Given the description of an element on the screen output the (x, y) to click on. 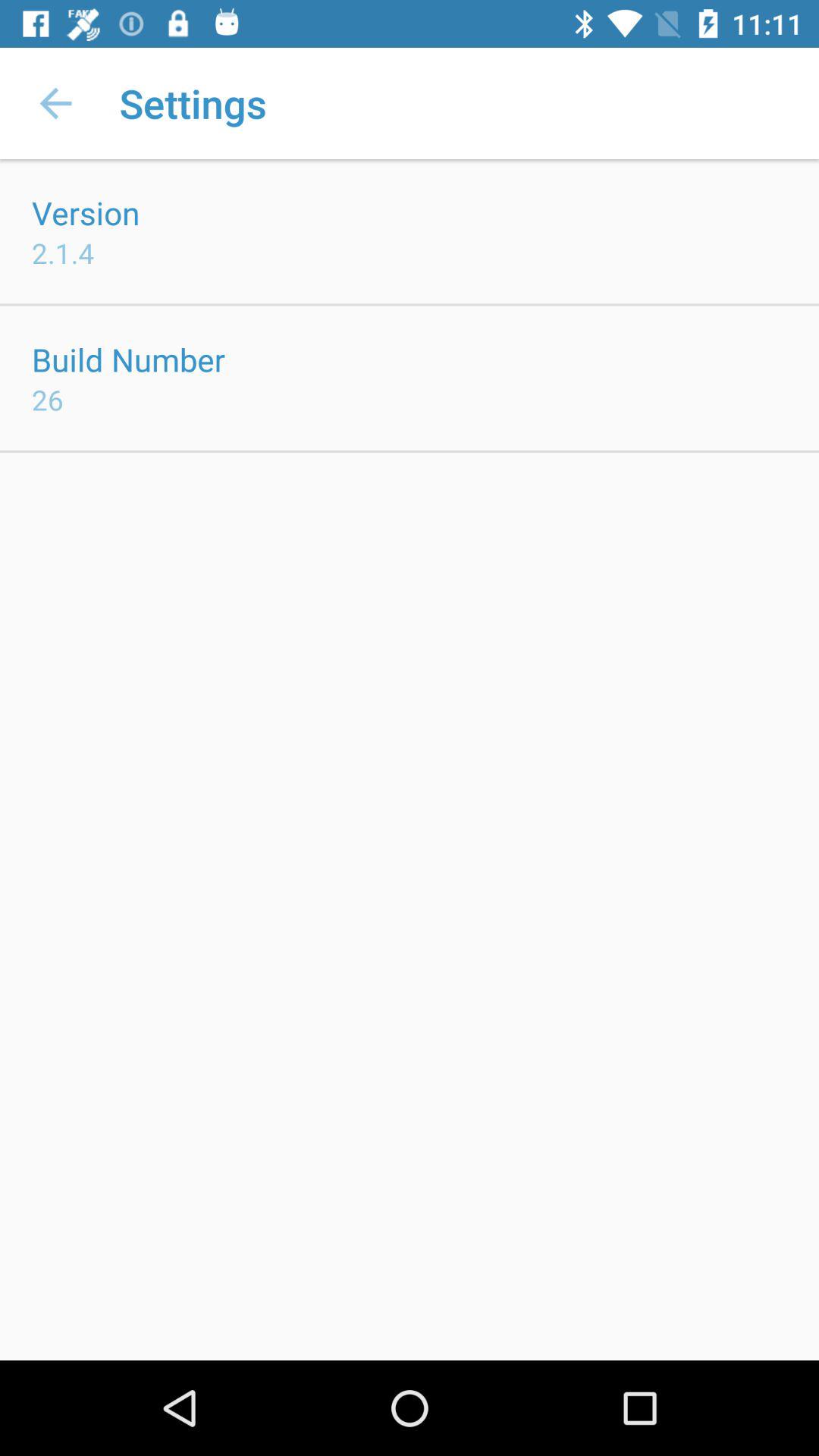
tap icon above the version item (55, 103)
